Given the description of an element on the screen output the (x, y) to click on. 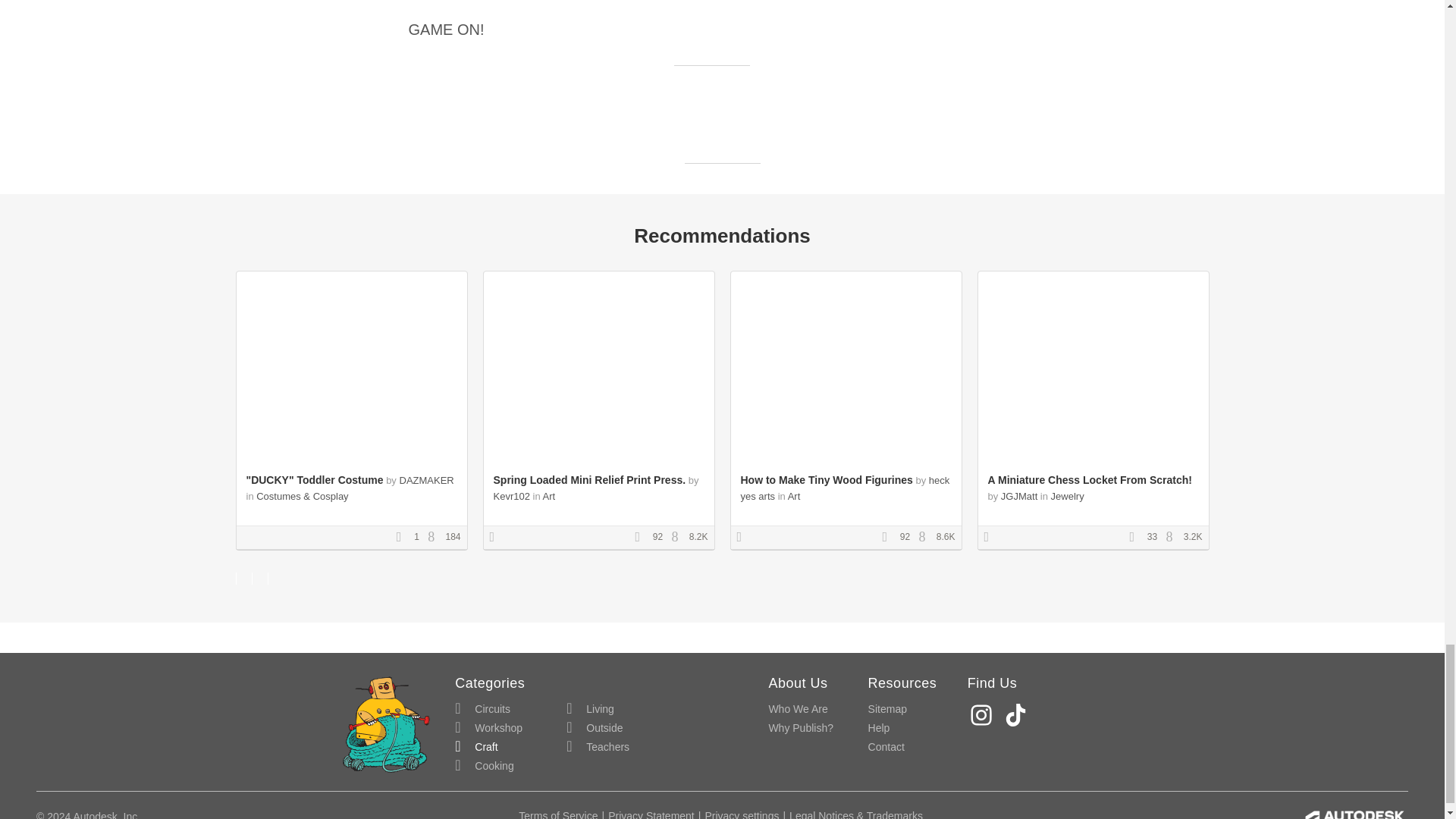
Views Count (678, 537)
Favorites Count (404, 537)
Views Count (925, 537)
Contest Winner (497, 537)
Kevr102 (511, 496)
Favorites Count (1136, 537)
Favorites Count (889, 537)
TikTok (1018, 715)
Art (793, 496)
Instagram (983, 715)
DAZMAKER (425, 480)
A Miniature Chess Locket From Scratch! (1089, 480)
Views Count (1173, 537)
Contest Winner (991, 537)
Art (549, 496)
